Given the description of an element on the screen output the (x, y) to click on. 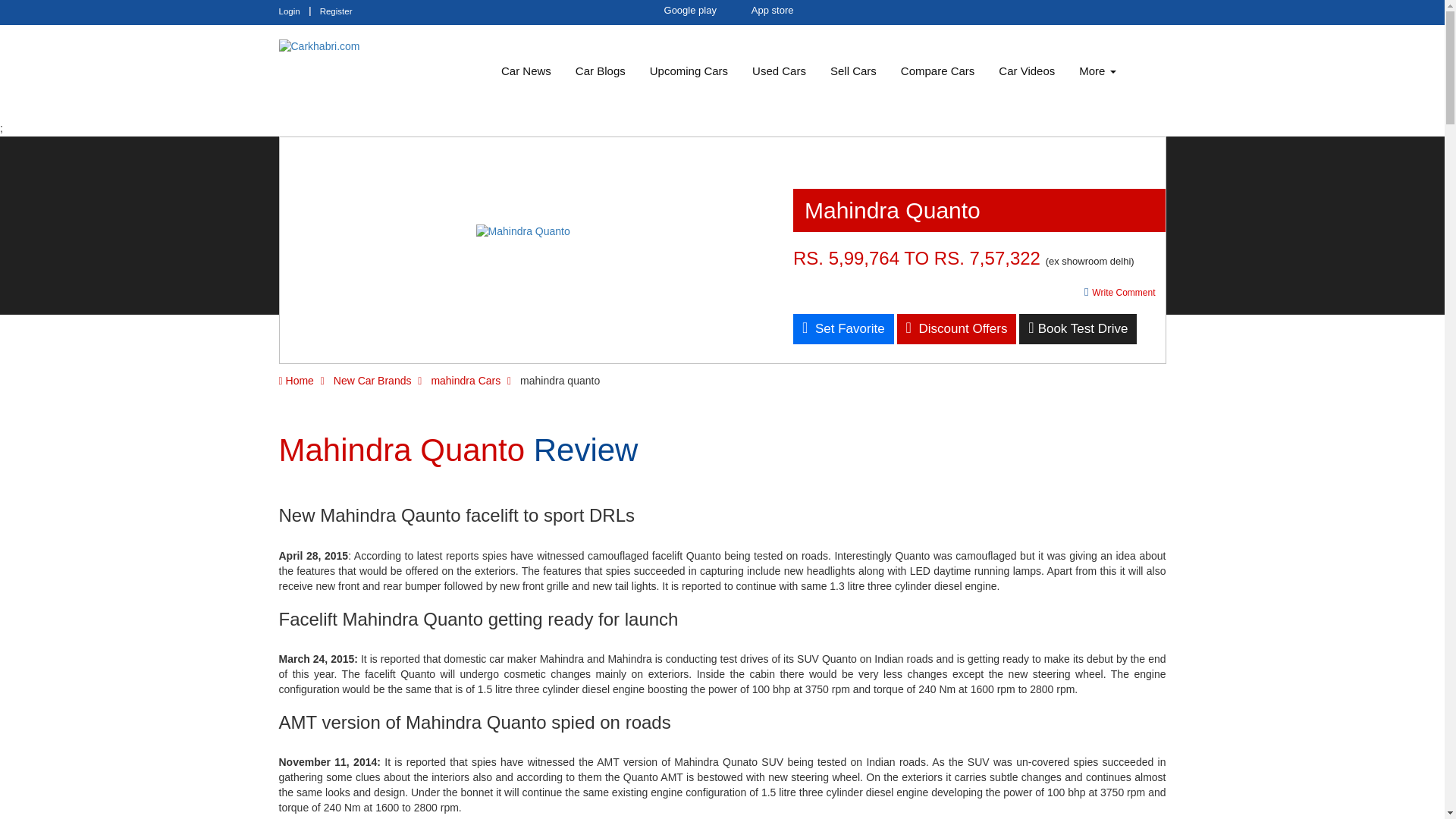
Used Cars (778, 70)
Set Favorite (843, 328)
Compare Cars (937, 70)
New Car Brands (372, 380)
Sell Cars (853, 70)
App store (765, 10)
mahindra-quanto (523, 231)
Home (296, 380)
Car Blogs (600, 70)
Car News (526, 70)
Write Comment (1120, 291)
More (1096, 70)
mahindra Cars (465, 380)
Discount Offers (956, 328)
Google play (683, 10)
